Given the description of an element on the screen output the (x, y) to click on. 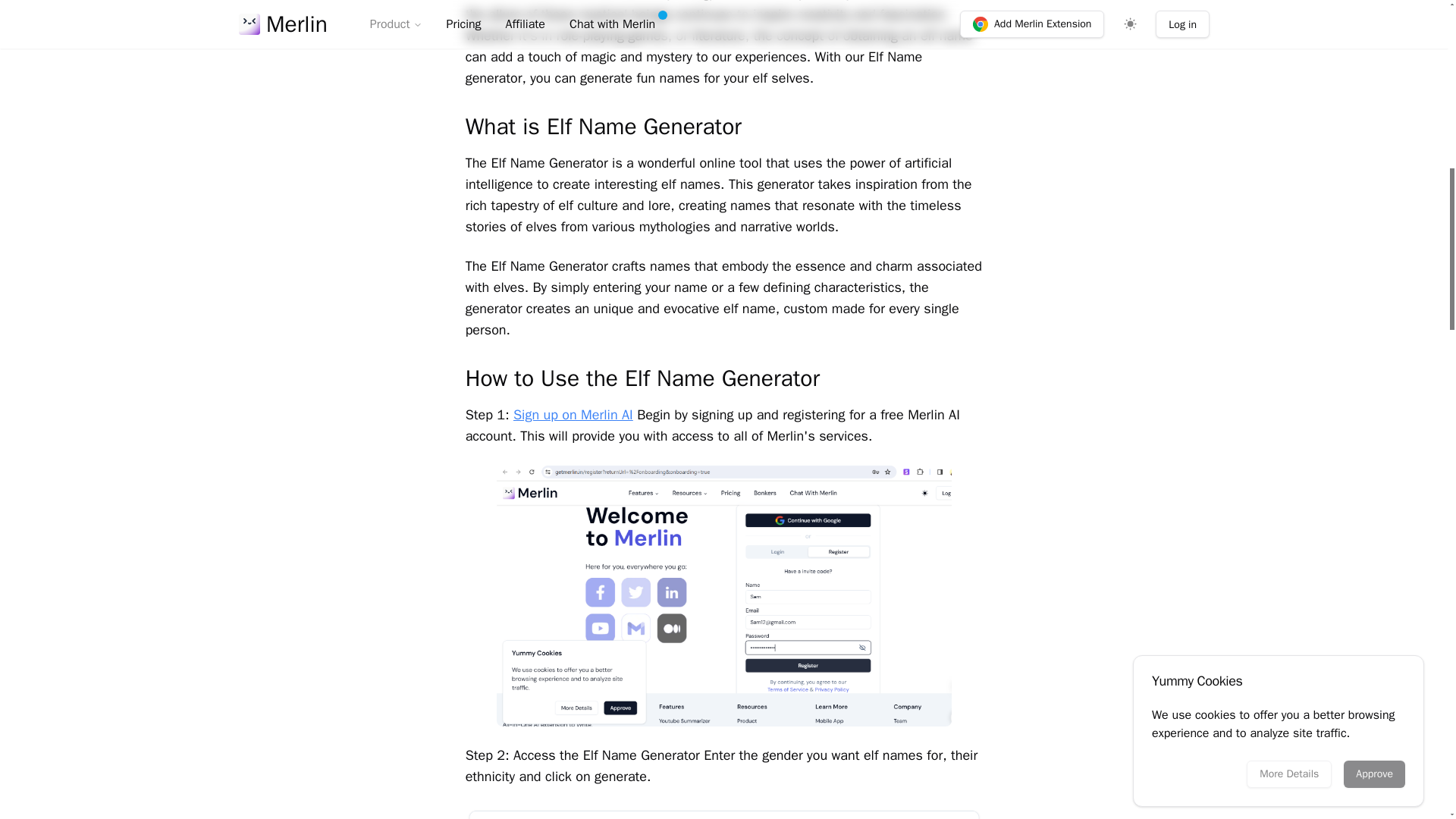
Sign up on Merlin AI (573, 414)
